Given the description of an element on the screen output the (x, y) to click on. 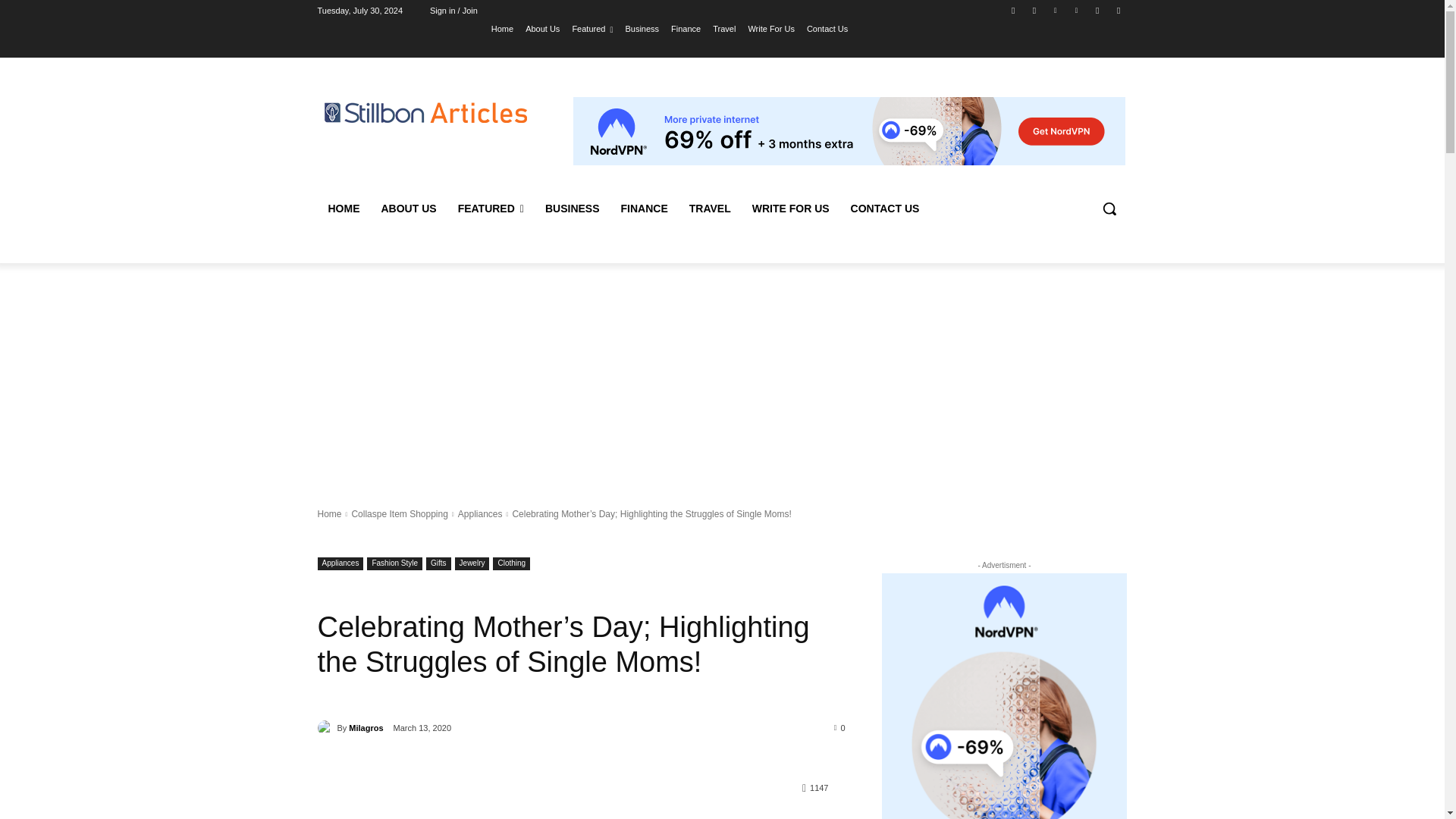
View all posts in Appliances (480, 513)
Twitter (1034, 9)
Facebook (1013, 9)
Travel (724, 28)
Home (502, 28)
Featured (592, 28)
Linkedin (1075, 9)
Reddit (1117, 9)
Instagram (1097, 9)
Write For Us (771, 28)
Pinterest (1055, 9)
Contact Us (826, 28)
View all posts in Collaspe Item Shopping (398, 513)
About Us (542, 28)
Business (641, 28)
